Given the description of an element on the screen output the (x, y) to click on. 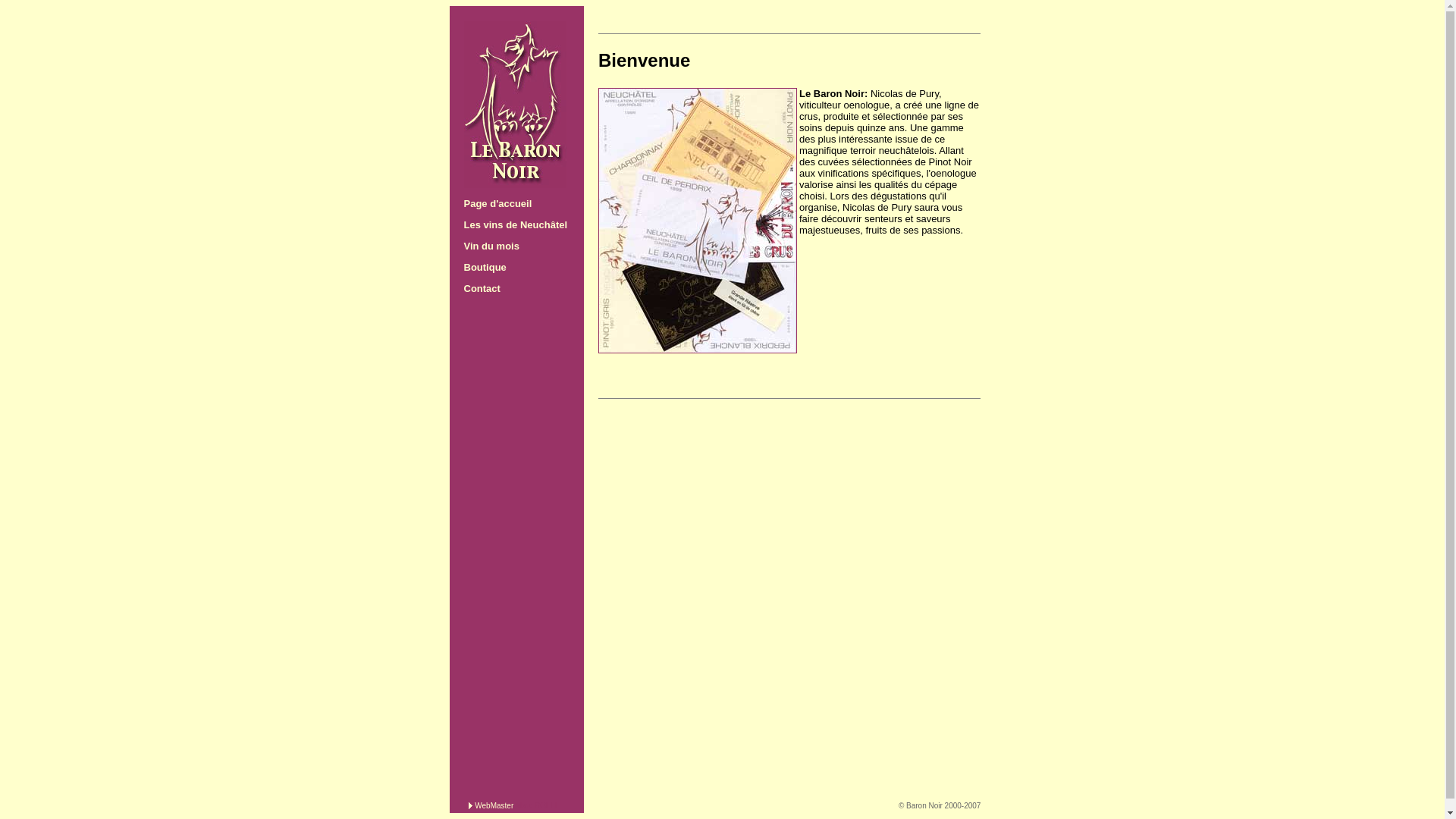
Marc ROLLI Element type: text (535, 804)
Contact Element type: text (482, 288)
Boutique Element type: text (485, 267)
Page d'accueil Element type: text (498, 203)
Vin du mois Element type: text (491, 245)
